Given the description of an element on the screen output the (x, y) to click on. 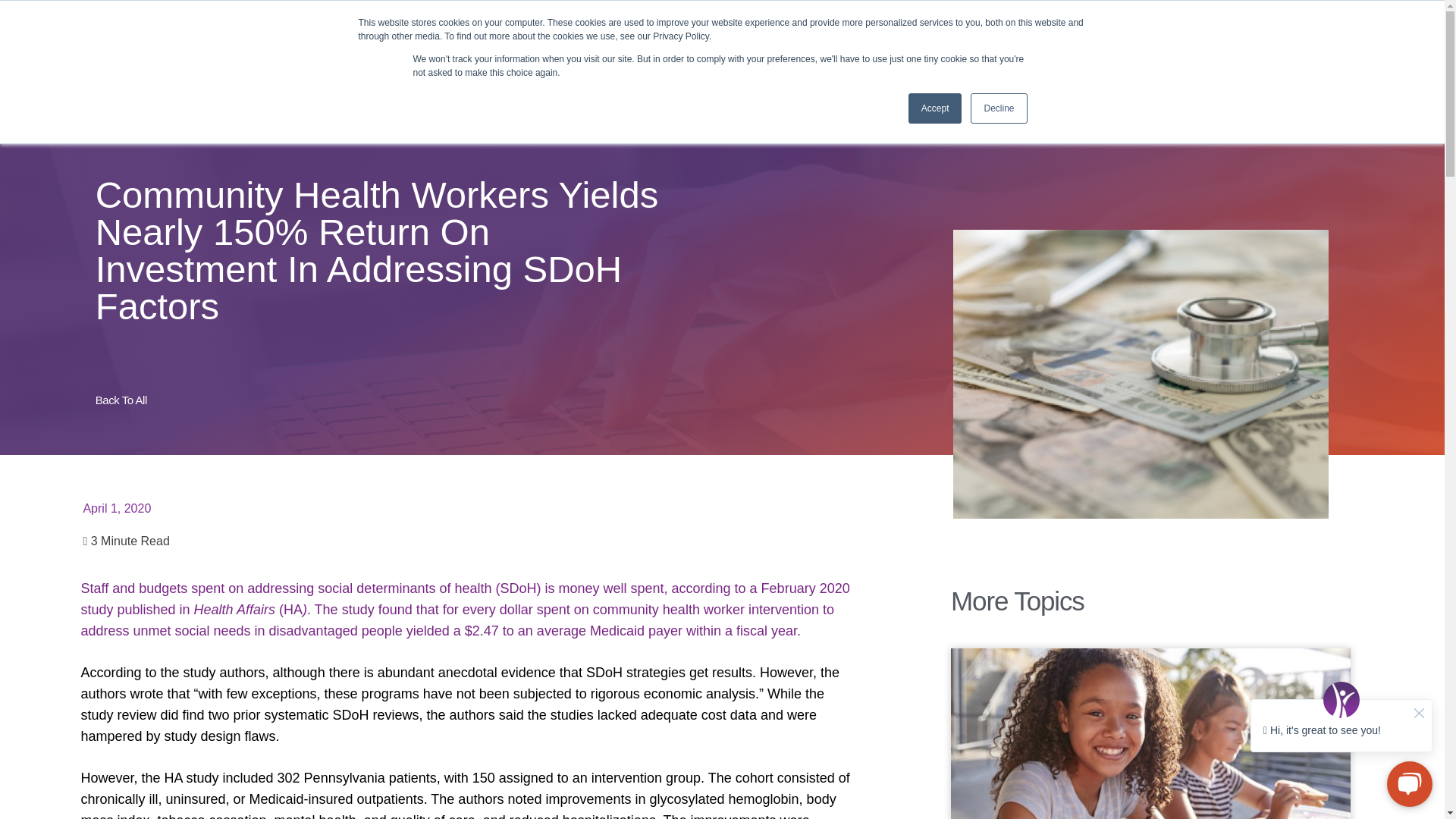
Accept (935, 108)
Decline (998, 108)
CLIENTTRACK (320, 18)
SYSTEM STATUS AND MAINTAINANCE (1014, 17)
Products (536, 74)
CLIENTINSIGHT (400, 18)
